Given the description of an element on the screen output the (x, y) to click on. 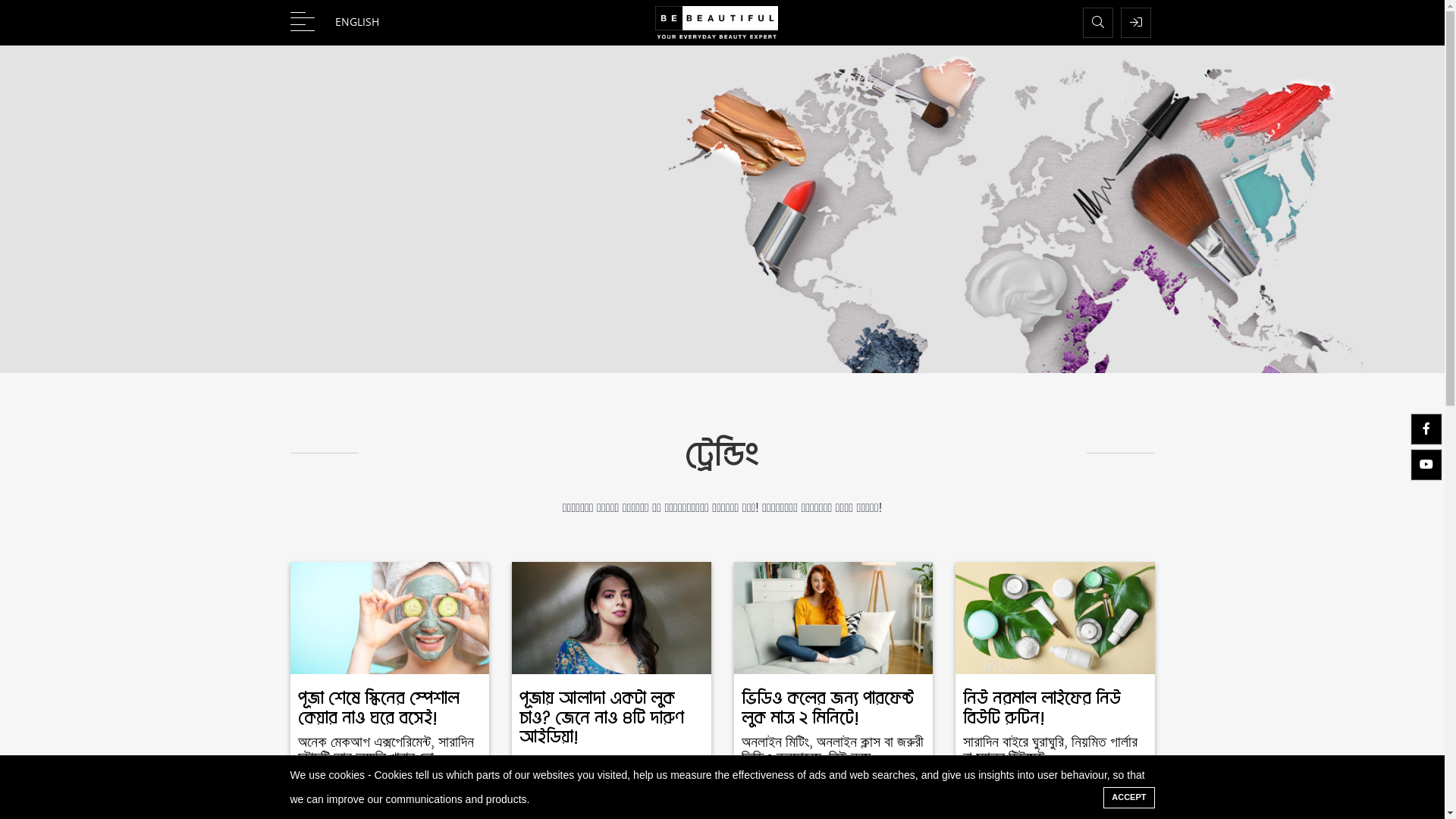
youtube Element type: text (1426, 464)
ENGLISH Element type: text (369, 21)
ACCEPT Element type: text (1128, 797)
Menu Trigger Element type: text (301, 21)
facebook Element type: text (1426, 429)
Sign In Element type: hover (1135, 22)
Search Element type: text (1097, 22)
